Given the description of an element on the screen output the (x, y) to click on. 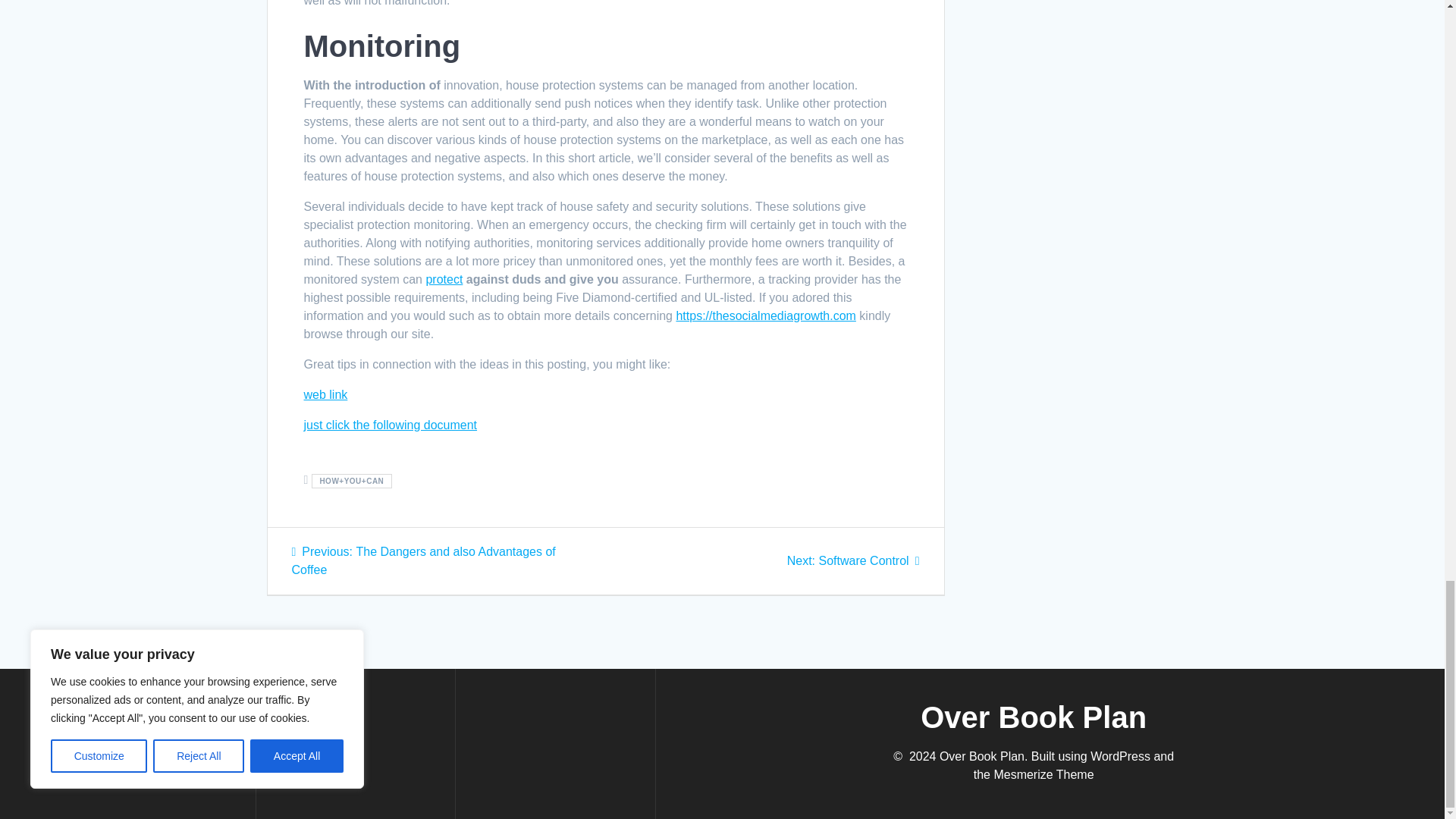
web link (324, 394)
protect (444, 278)
just click the following document (389, 424)
